Given the description of an element on the screen output the (x, y) to click on. 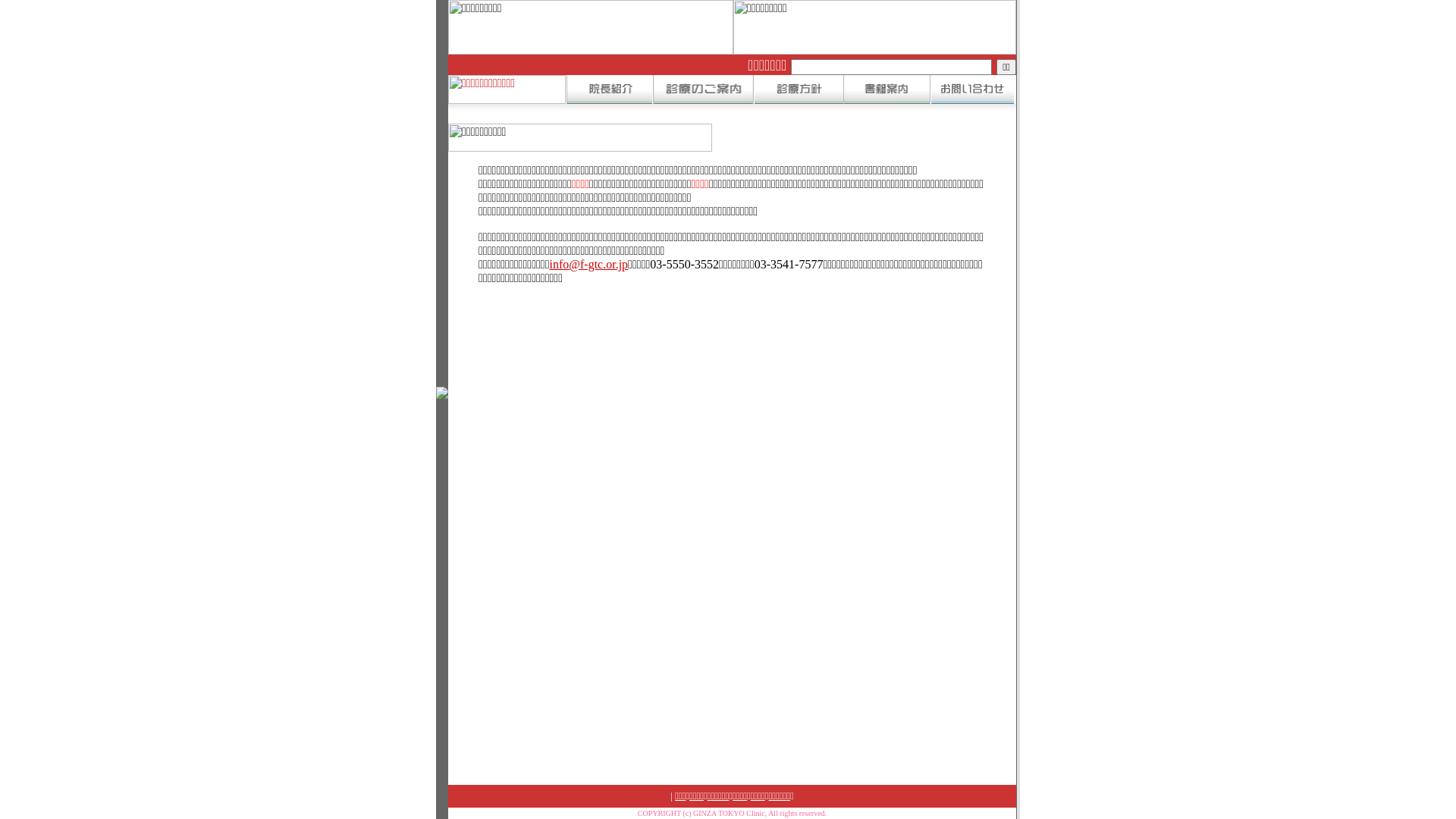
info@f-gtc.or.jp Element type: text (588, 263)
